Given the description of an element on the screen output the (x, y) to click on. 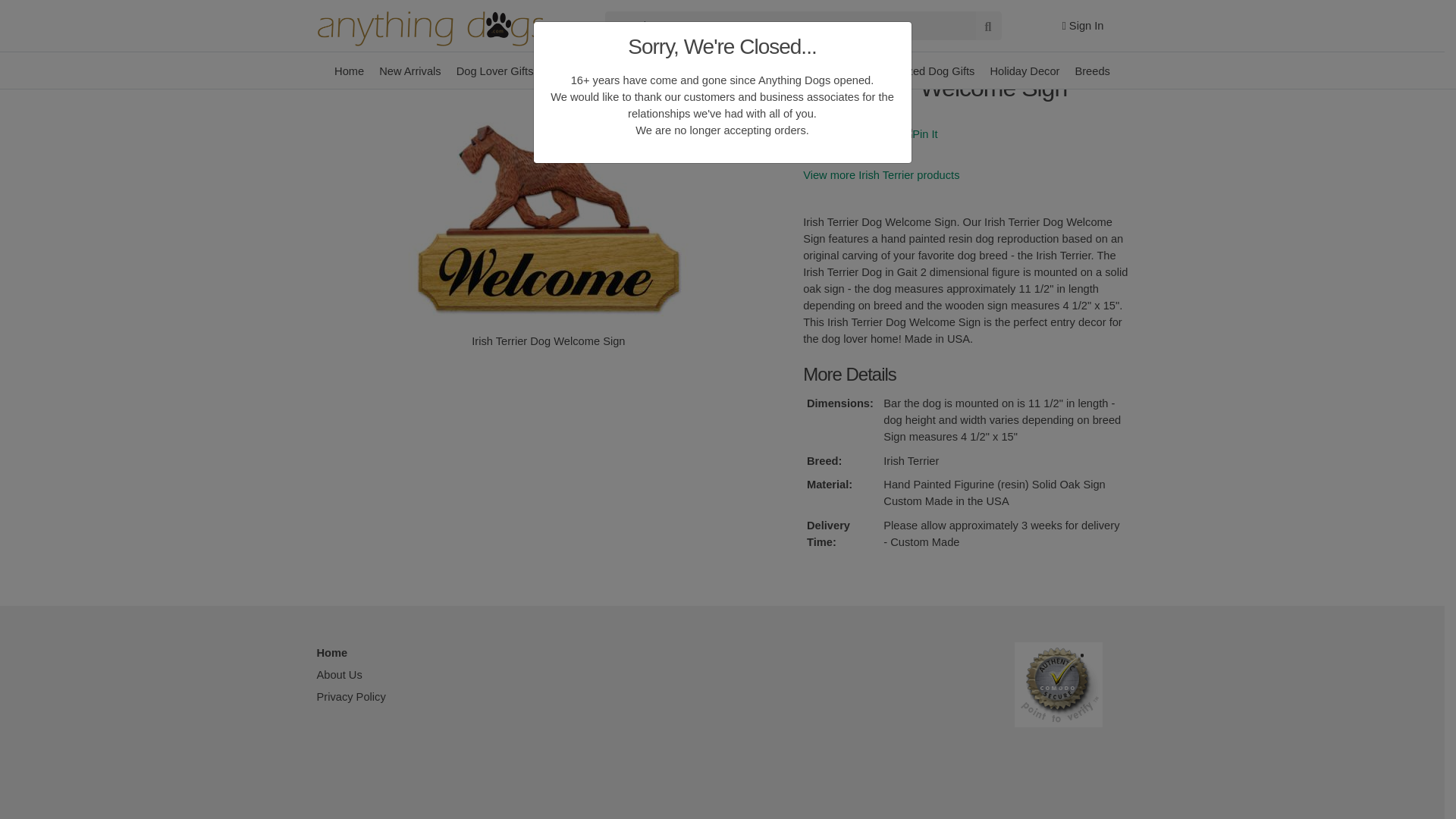
Dog Lover Gifts (494, 0)
Home (348, 0)
Dog Lover Home (590, 0)
Dog Lover Gifts (494, 0)
Dog Lover Home (590, 0)
New Arrivals (409, 0)
Dog Lover Garden (693, 0)
Home (348, 0)
New Arrivals (409, 0)
